Given the description of an element on the screen output the (x, y) to click on. 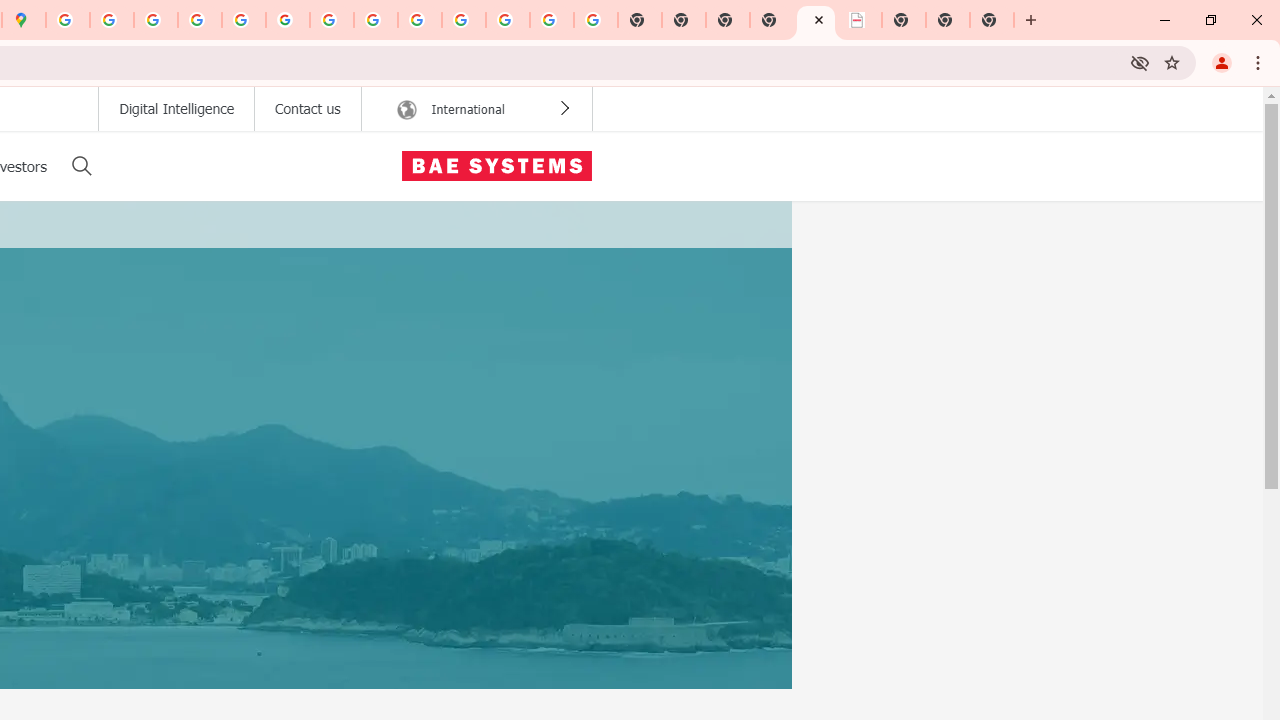
Digital Intelligence (176, 109)
New Tab (771, 20)
Privacy Help Center - Policies Help (155, 20)
Sign in - Google Accounts (67, 20)
BAE Systems (495, 165)
YouTube (331, 20)
Google Images (595, 20)
BAE Systems Brasil | BAE Systems (859, 20)
Privacy Help Center - Policies Help (199, 20)
 International Region Icon (406, 110)
